Given the description of an element on the screen output the (x, y) to click on. 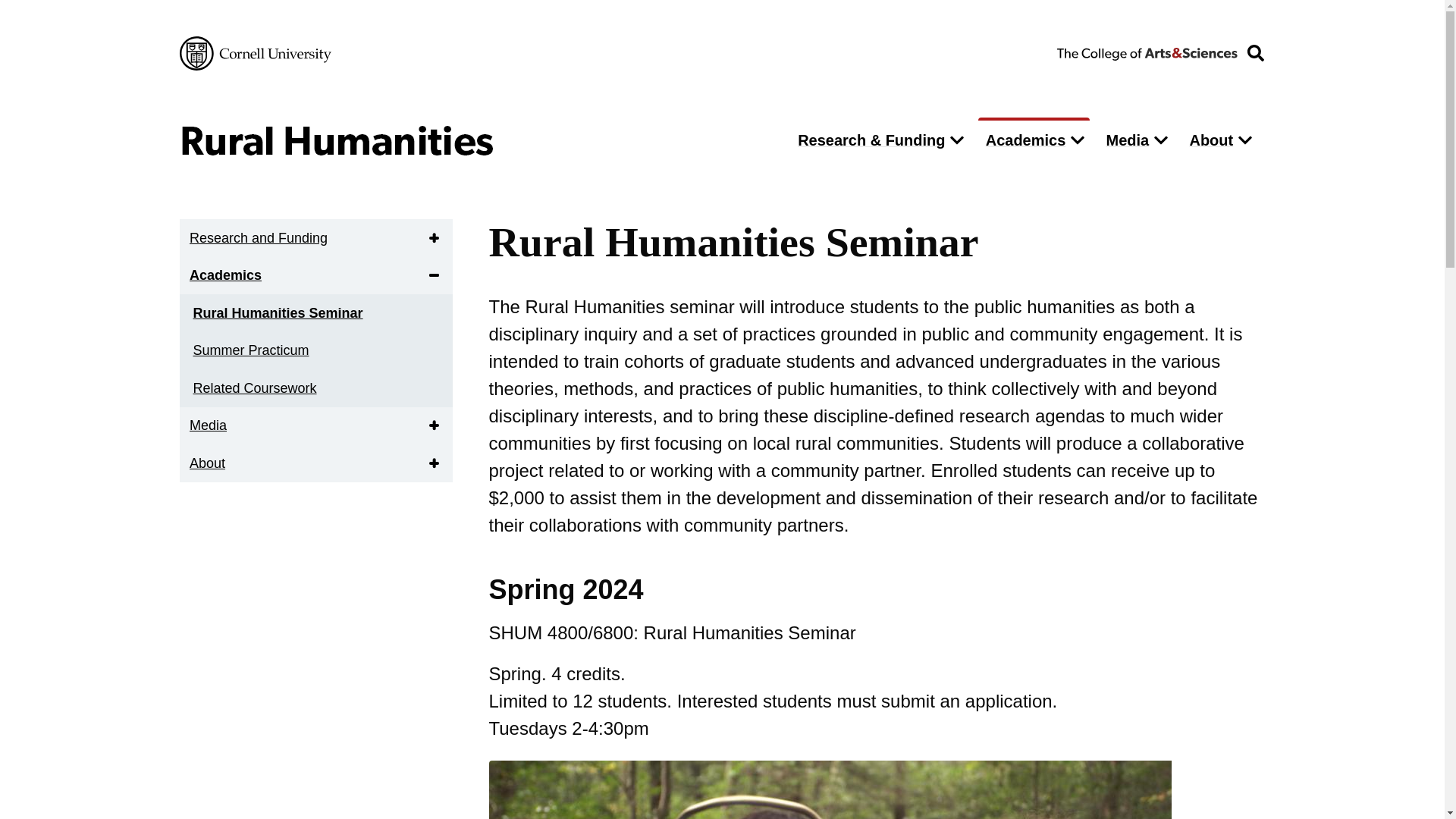
Academics (224, 275)
Media (1124, 139)
Cornell University (254, 53)
Cornell University (254, 53)
Search (975, 181)
Academics (1021, 139)
Open subnav (437, 275)
Open search (1255, 53)
Research and Funding (258, 238)
College of Arts and Sciences (1146, 52)
